Given the description of an element on the screen output the (x, y) to click on. 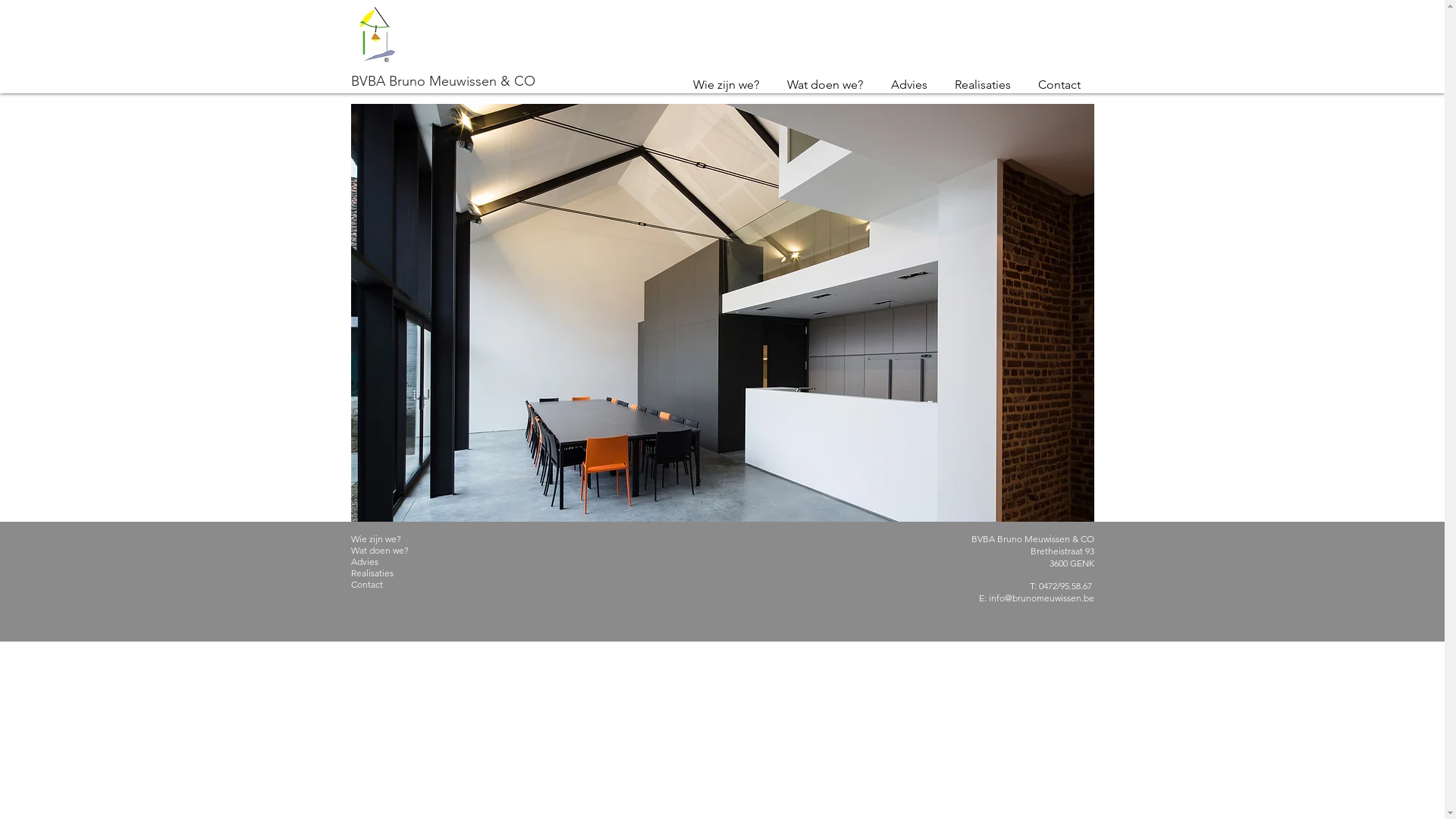
Realisaties Element type: text (981, 84)
Wat doen we? Element type: text (400, 549)
Wat doen we? Element type: text (825, 84)
Bruno Meuwissen logo Q-2.jpg Element type: hover (376, 34)
Wie zijn we? Element type: text (726, 84)
Advies Element type: text (400, 561)
Contact Element type: text (1058, 84)
Contact Element type: text (400, 583)
BVBA Bruno Meuwissen & CO Element type: text (442, 80)
info@brunomeuwissen.be Element type: text (1041, 597)
Advies Element type: text (908, 84)
Realisaties Element type: text (400, 572)
Wie zijn we? Element type: text (400, 538)
